Given the description of an element on the screen output the (x, y) to click on. 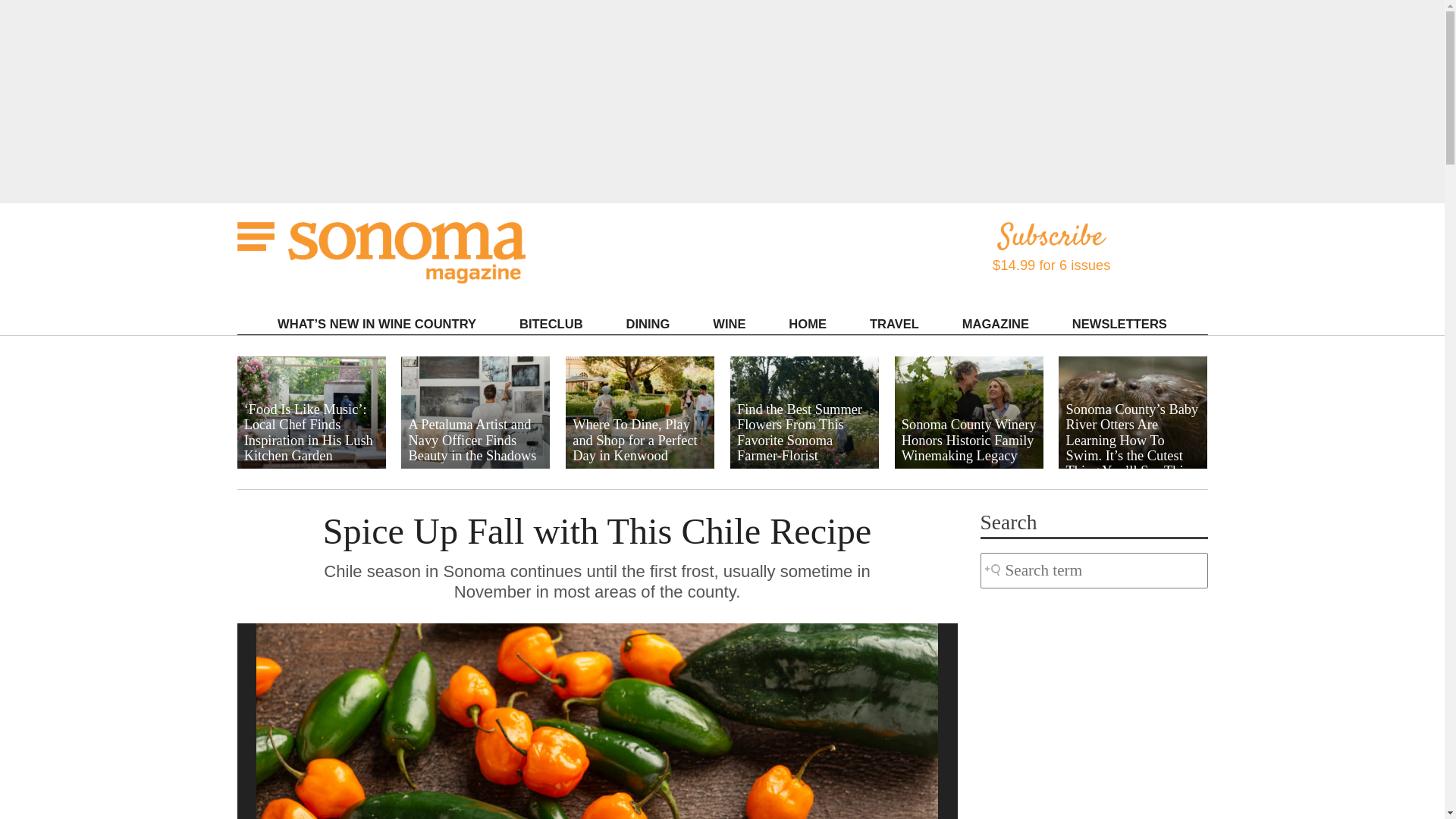
Contact Sonoma Magazine (1034, 351)
HOME (807, 323)
BITECLUB (550, 323)
WINE (729, 323)
3rd party ad content (1093, 703)
DINING (647, 323)
TRAVEL (894, 323)
Current Issue (1034, 343)
MAGAZINE (994, 323)
